Given the description of an element on the screen output the (x, y) to click on. 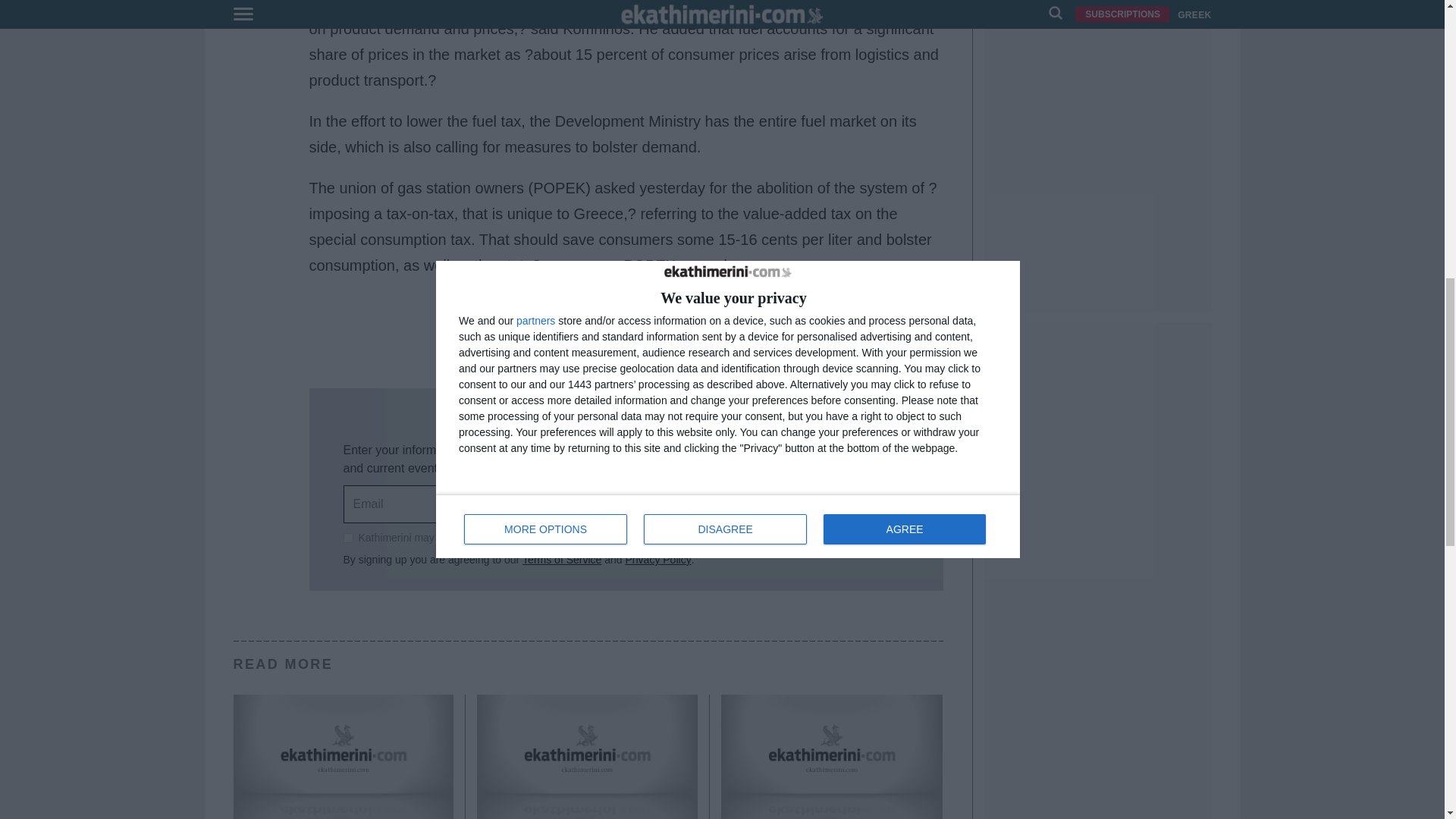
on (347, 537)
